Given the description of an element on the screen output the (x, y) to click on. 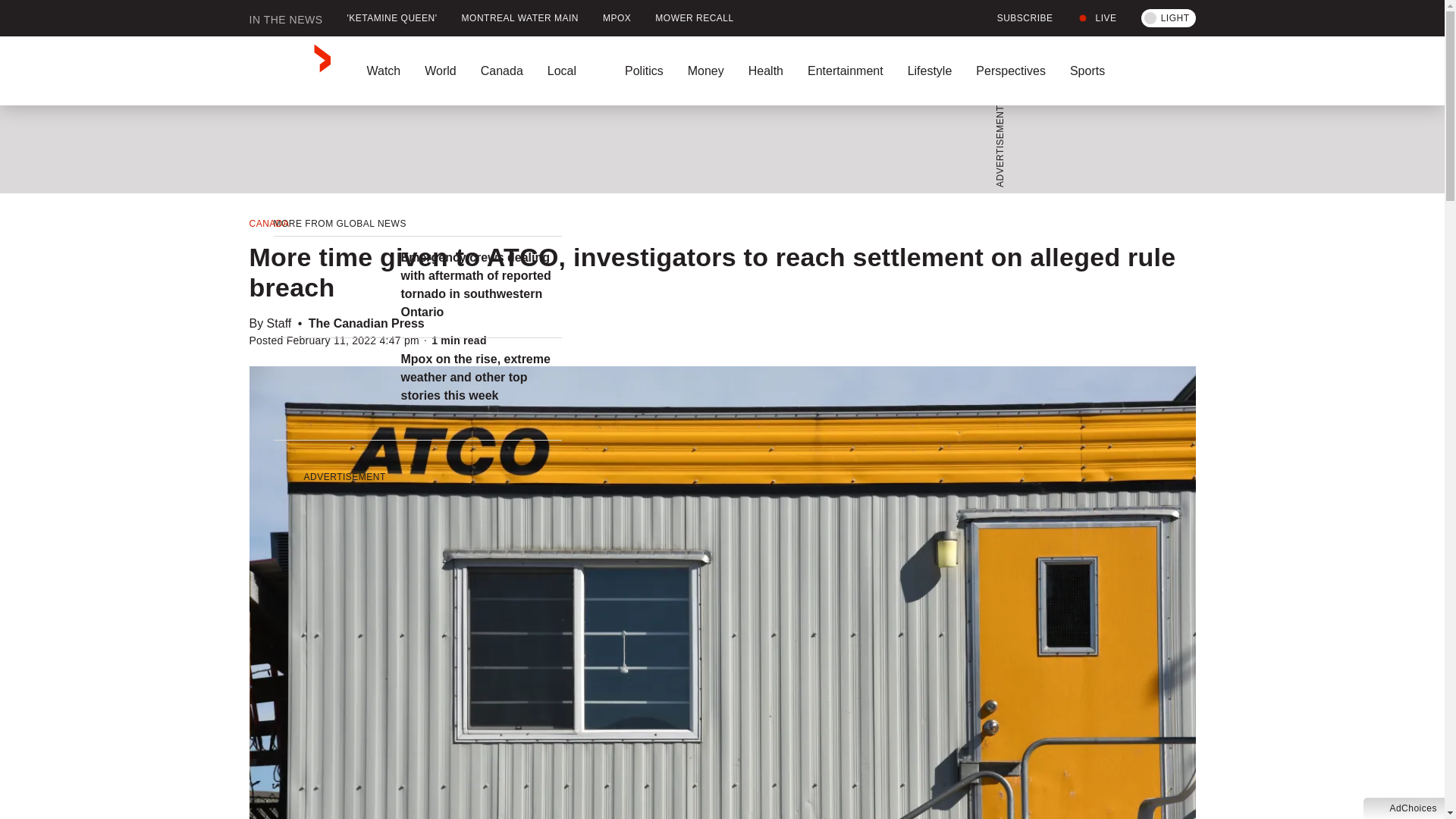
GlobalNews home (289, 70)
Lifestyle (929, 70)
Politics (643, 70)
Entertainment (844, 70)
LIVE (1096, 18)
MOWER RECALL (694, 18)
MONTREAL WATER MAIN (520, 18)
Local (573, 70)
